Given the description of an element on the screen output the (x, y) to click on. 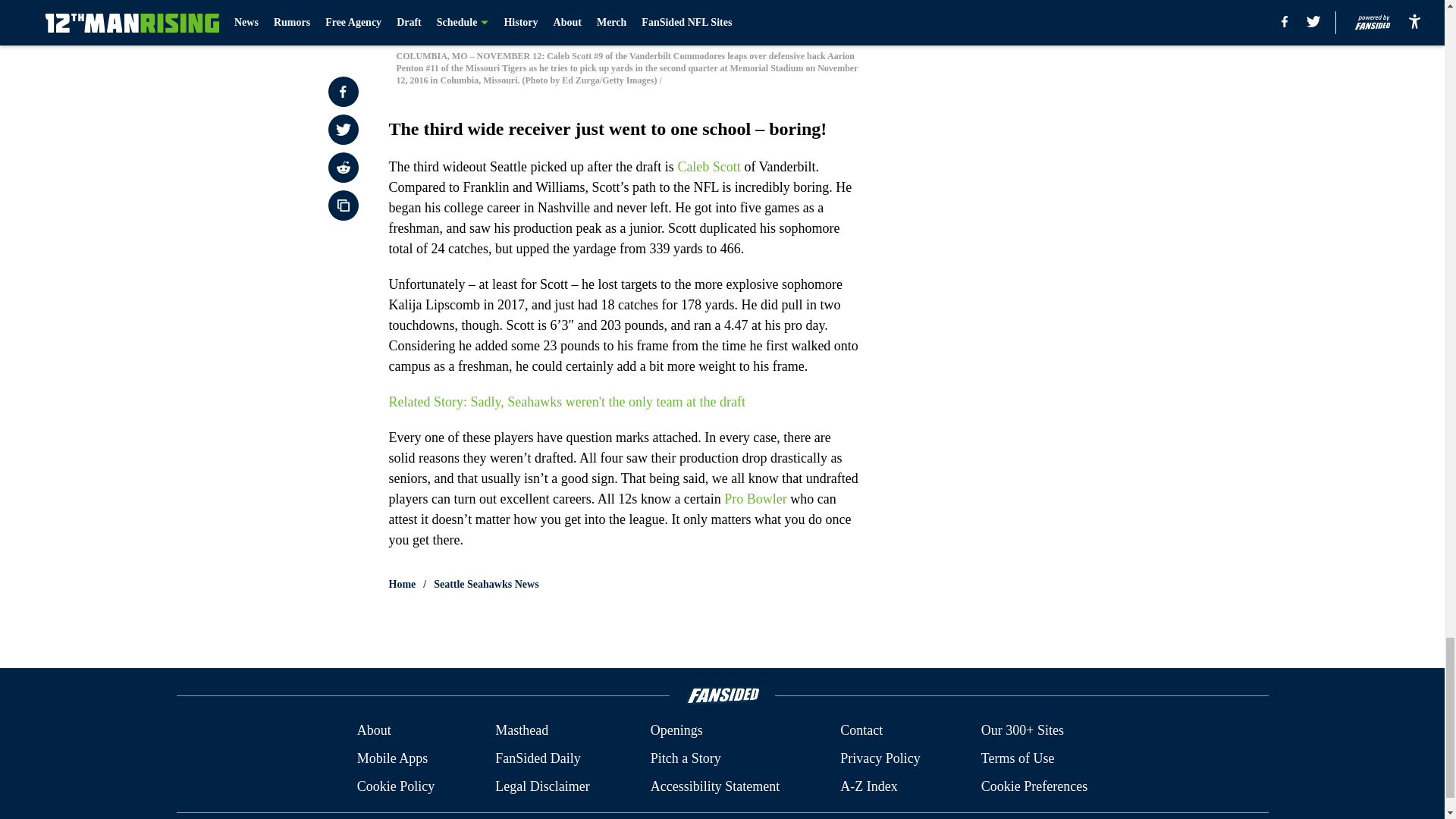
FanSided Daily (537, 758)
Caleb Scott (709, 165)
Masthead (521, 729)
About (373, 729)
Mobile Apps (392, 758)
Openings (676, 729)
Home (401, 584)
Pro Bowler (755, 498)
Contact (861, 729)
Privacy Policy (880, 758)
Seattle Seahawks News (485, 584)
Pitch a Story (685, 758)
